Given the description of an element on the screen output the (x, y) to click on. 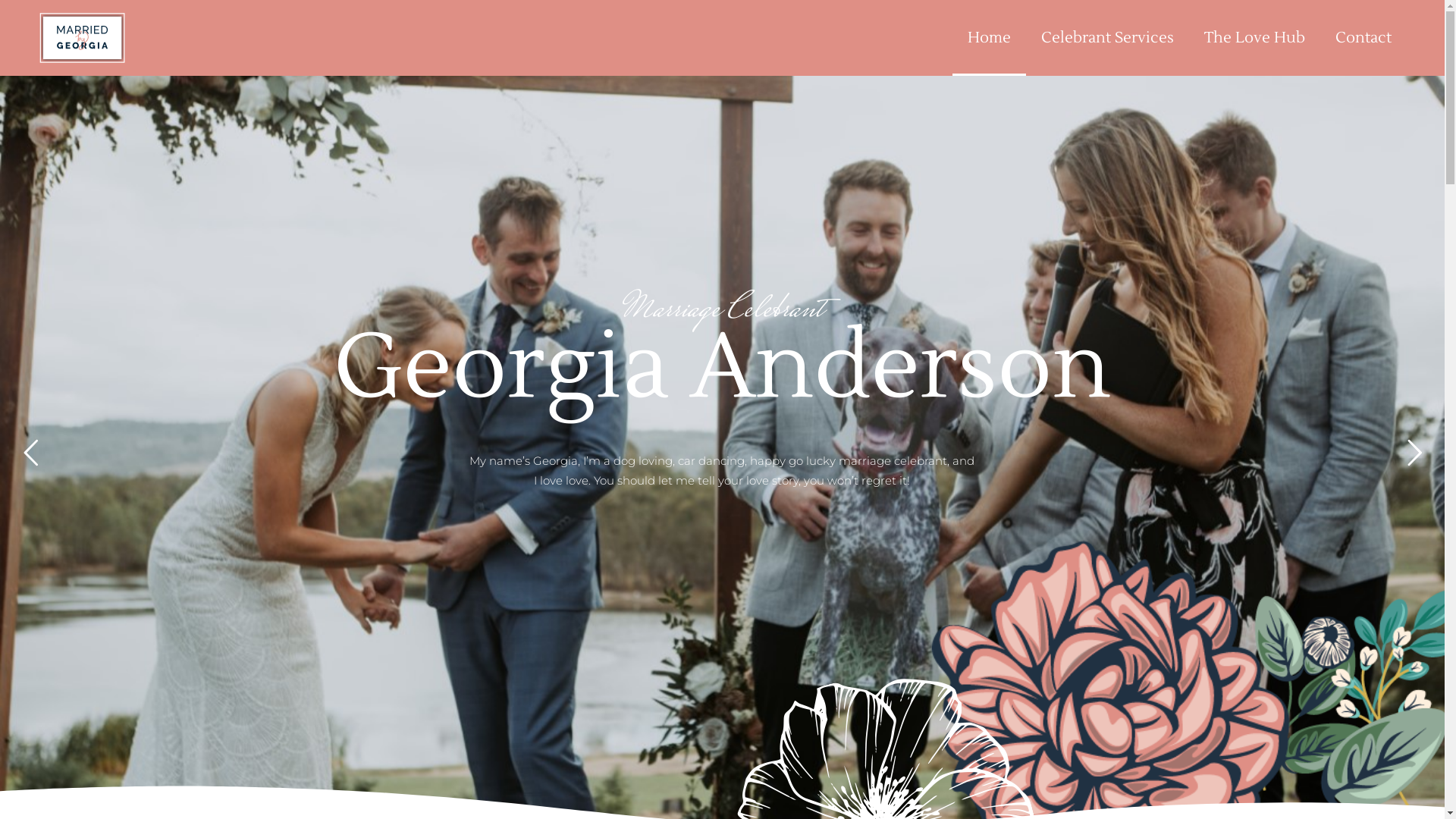
Home Element type: text (989, 37)
Celebrant Services Element type: text (1107, 37)
Contact Element type: text (1363, 37)
The Love Hub Element type: text (1254, 37)
